Given the description of an element on the screen output the (x, y) to click on. 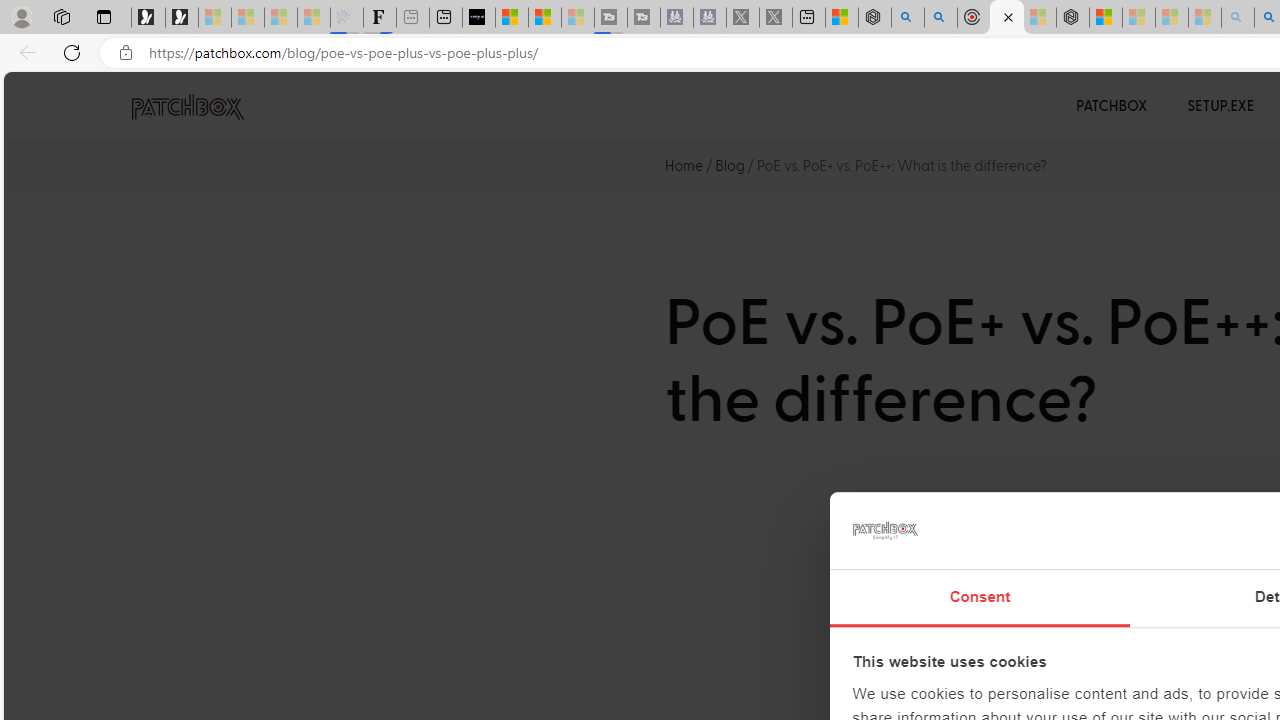
Nordace - Nordace Siena Is Not An Ordinary Backpack (1073, 17)
poe ++ standard - Search (941, 17)
PATCHBOX - Simplify IT (187, 107)
SETUP.EXE (1220, 106)
SETUP.EXE (1220, 106)
